Given the description of an element on the screen output the (x, y) to click on. 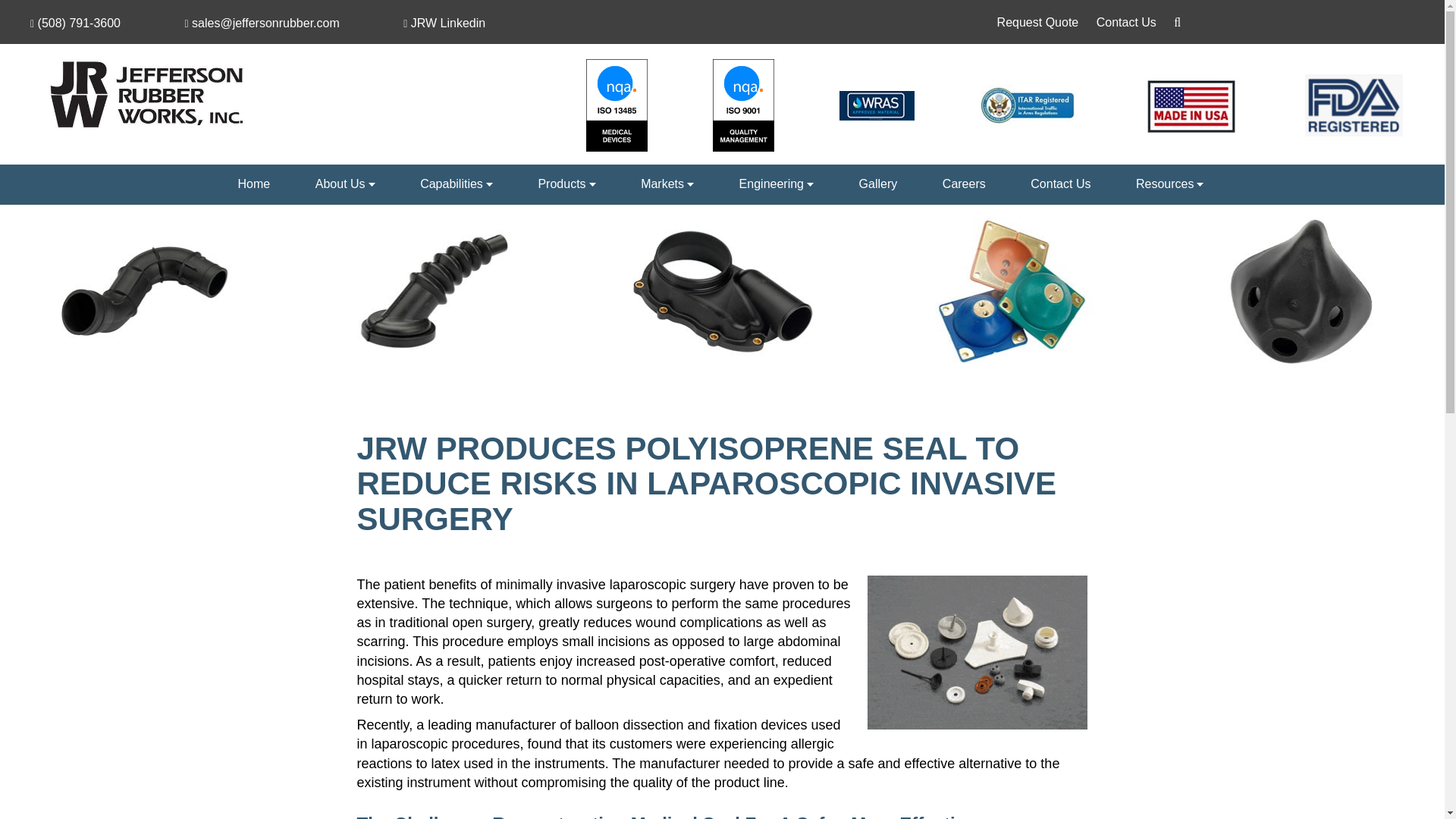
JRW Linkedin (443, 22)
ITAR (1028, 104)
Capabilities (455, 183)
Request Quote (1037, 21)
Contact Us (1126, 21)
FDA Registered (1353, 105)
Medical Parts (977, 652)
Home (253, 183)
Products (566, 183)
Jefferson Rubber Works, Inc. (146, 93)
Made in USA (1191, 105)
About Us (345, 183)
WRAS (877, 105)
